Given the description of an element on the screen output the (x, y) to click on. 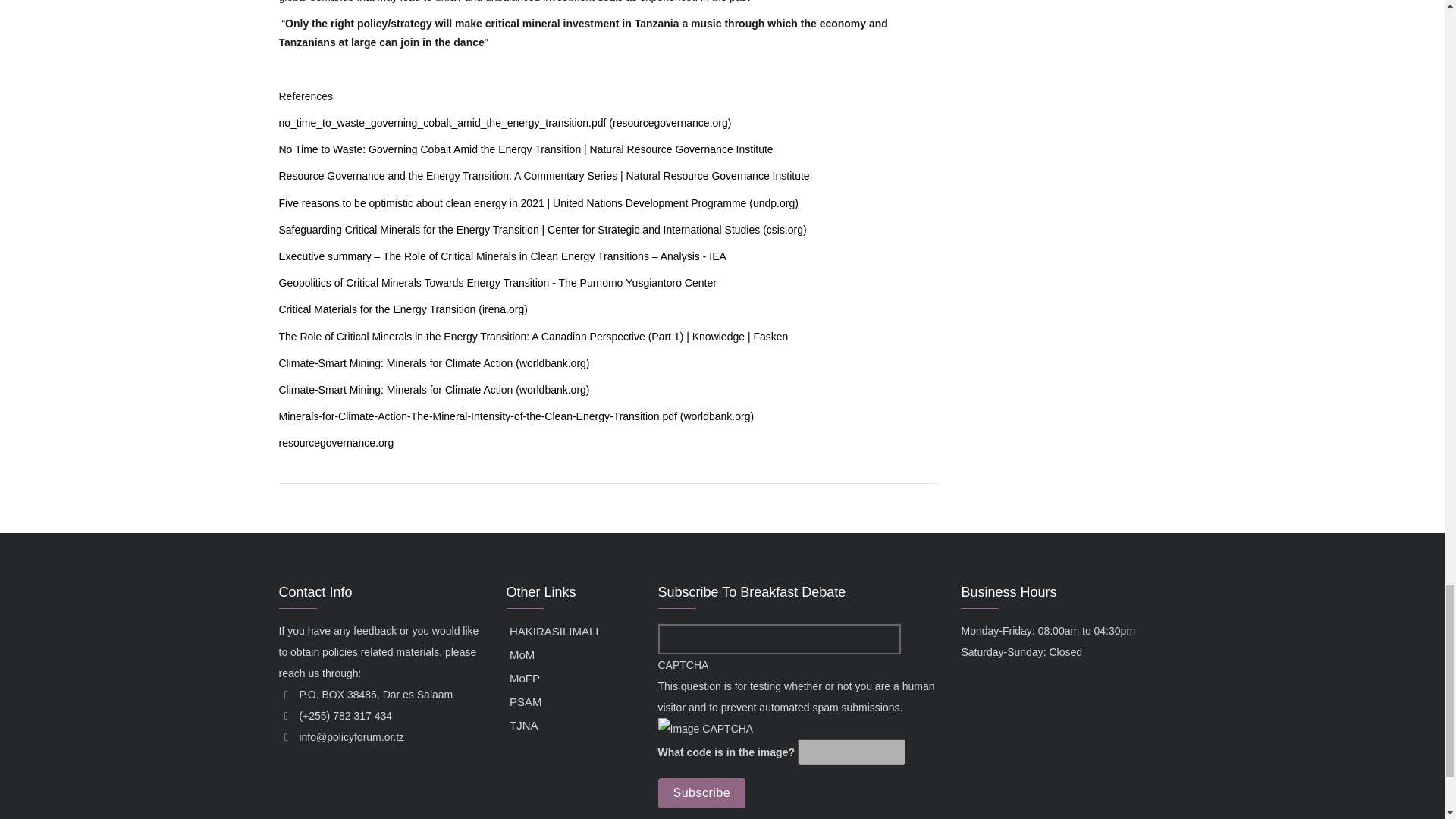
Image CAPTCHA (706, 728)
Subscribe (701, 793)
